Given the description of an element on the screen output the (x, y) to click on. 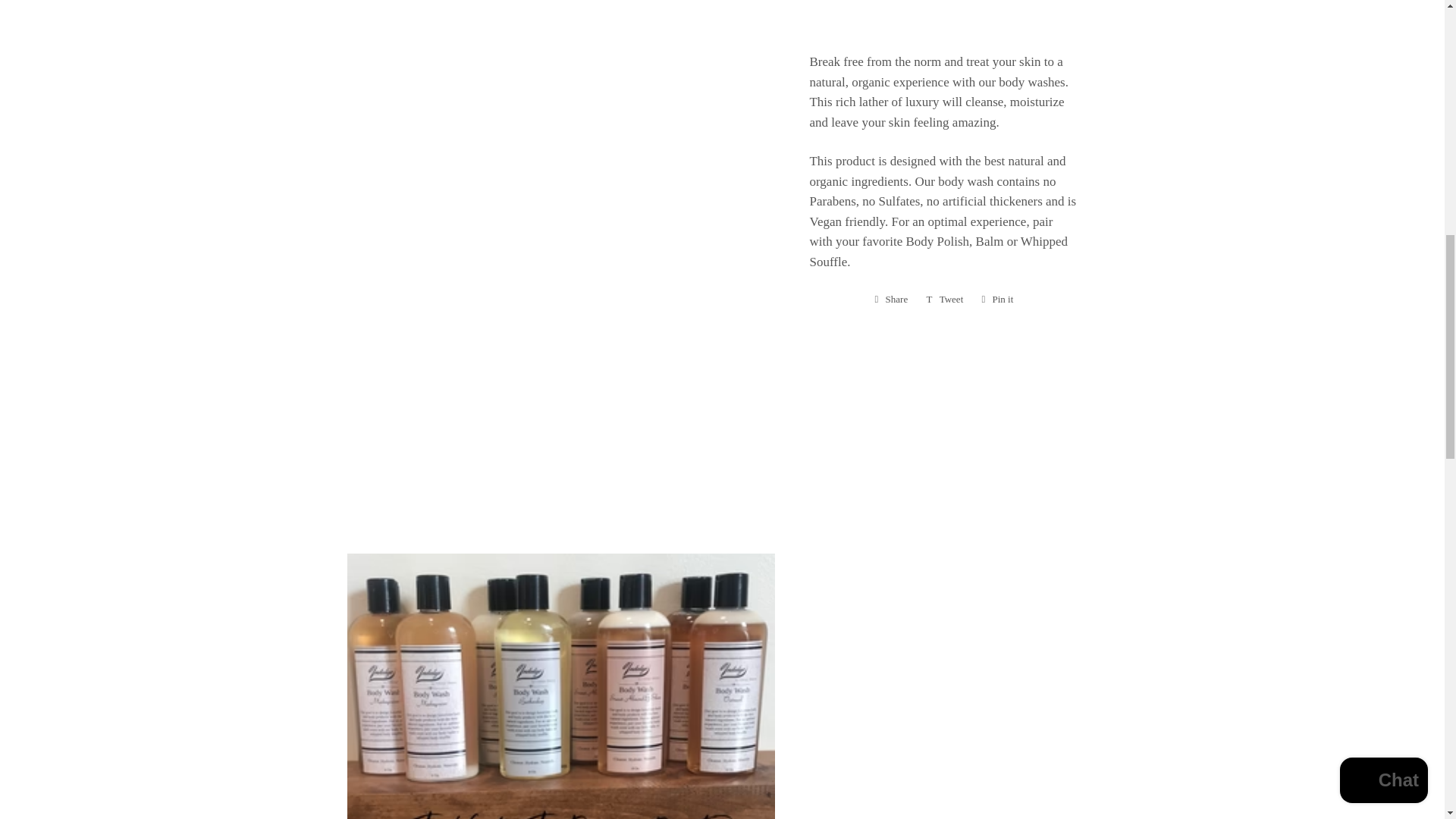
Share on Facebook (891, 299)
Pin on Pinterest (997, 299)
Tweet on Twitter (891, 299)
